Given the description of an element on the screen output the (x, y) to click on. 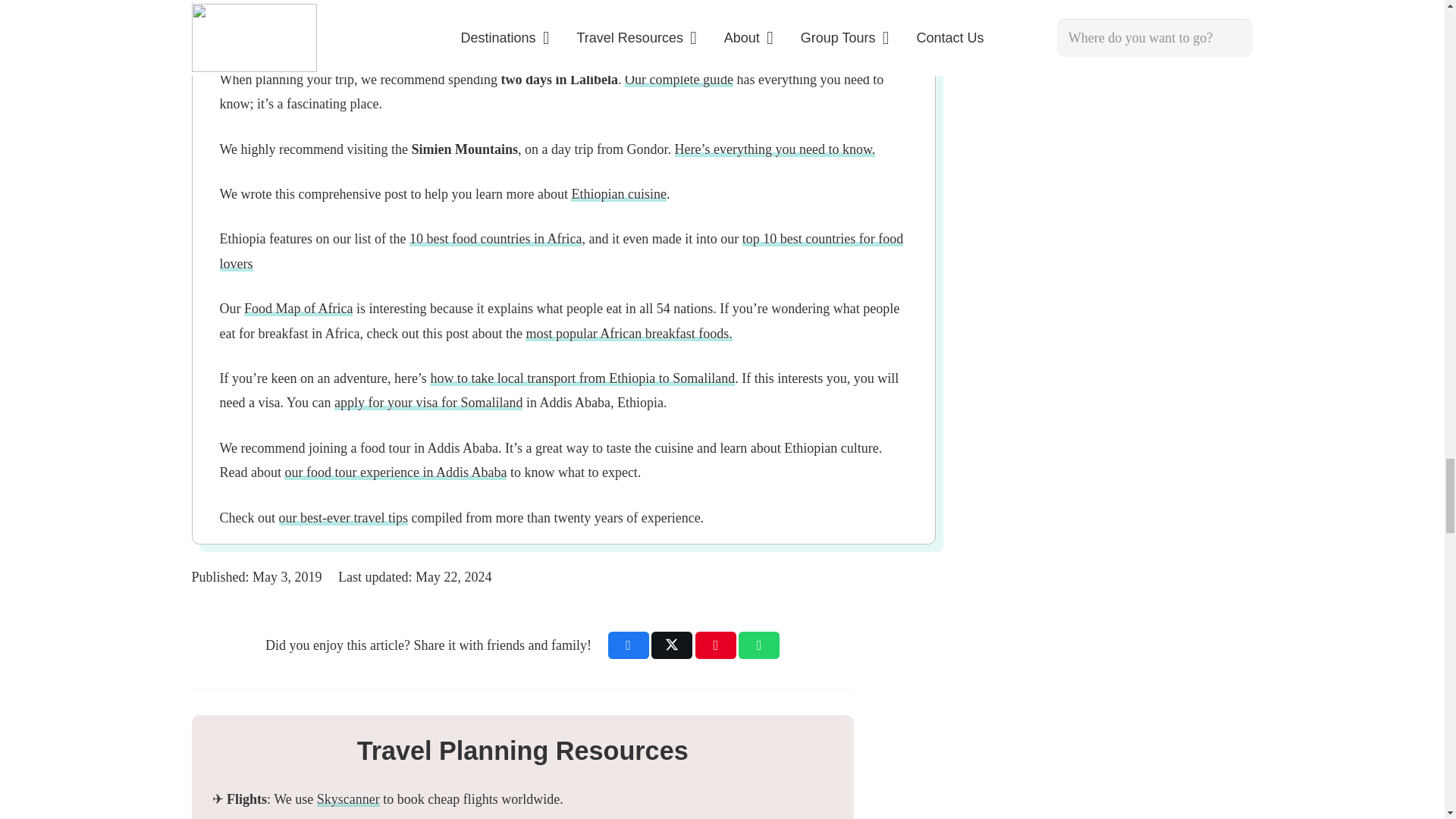
Pin this (715, 645)
Share this (758, 645)
Share this (628, 645)
Tweet this (671, 645)
